Given the description of an element on the screen output the (x, y) to click on. 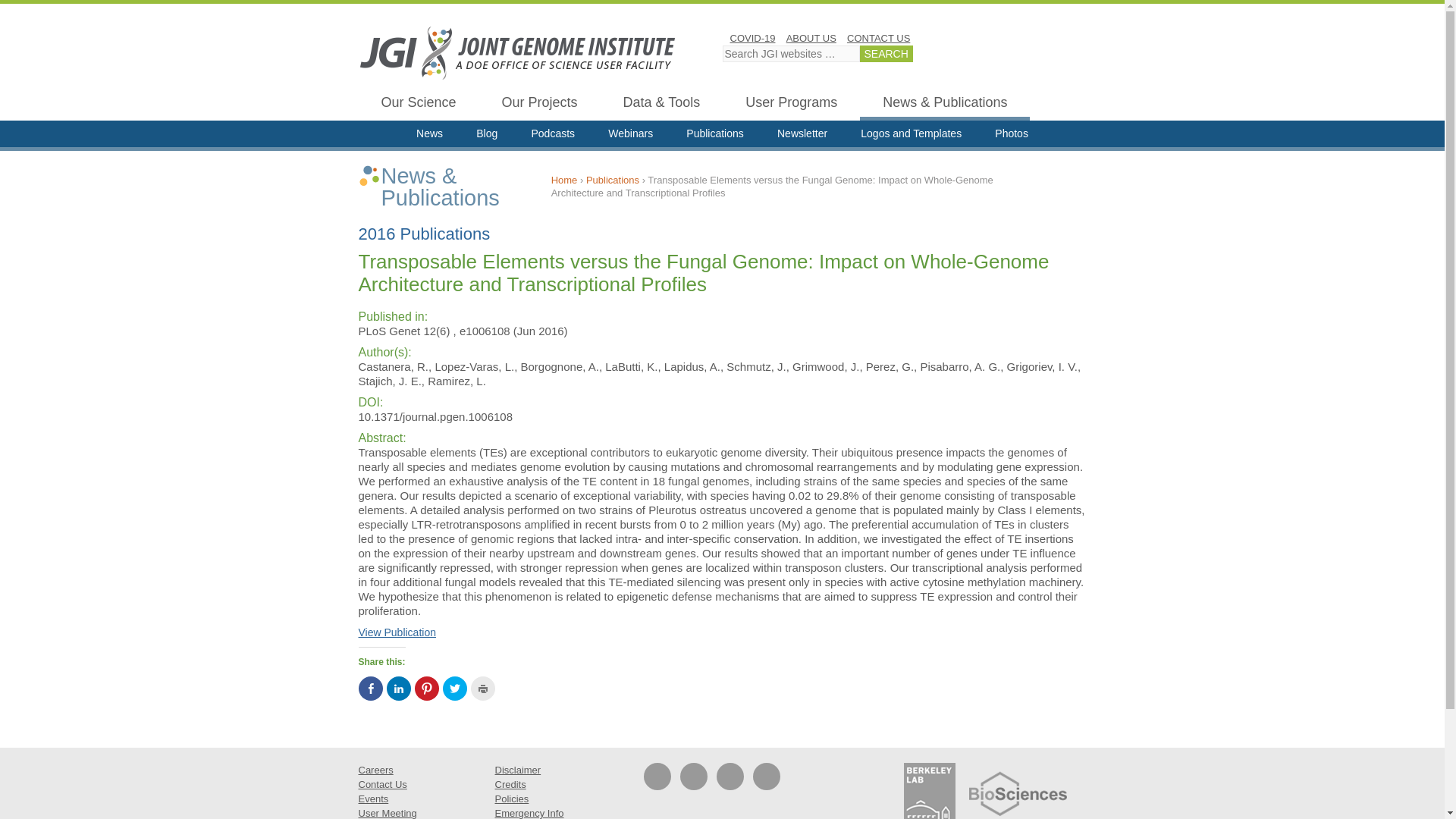
Search (886, 53)
DOE Joint Genome Institute (517, 52)
Our Projects (539, 104)
Click to share on Pinterest (425, 688)
Search (886, 53)
COVID-19 (751, 38)
Click to print (482, 688)
Click to share on Facebook (369, 688)
Click to share on Twitter (454, 688)
ABOUT US (810, 38)
Click to share on LinkedIn (398, 688)
Our Science (418, 104)
CONTACT US (878, 38)
